Given the description of an element on the screen output the (x, y) to click on. 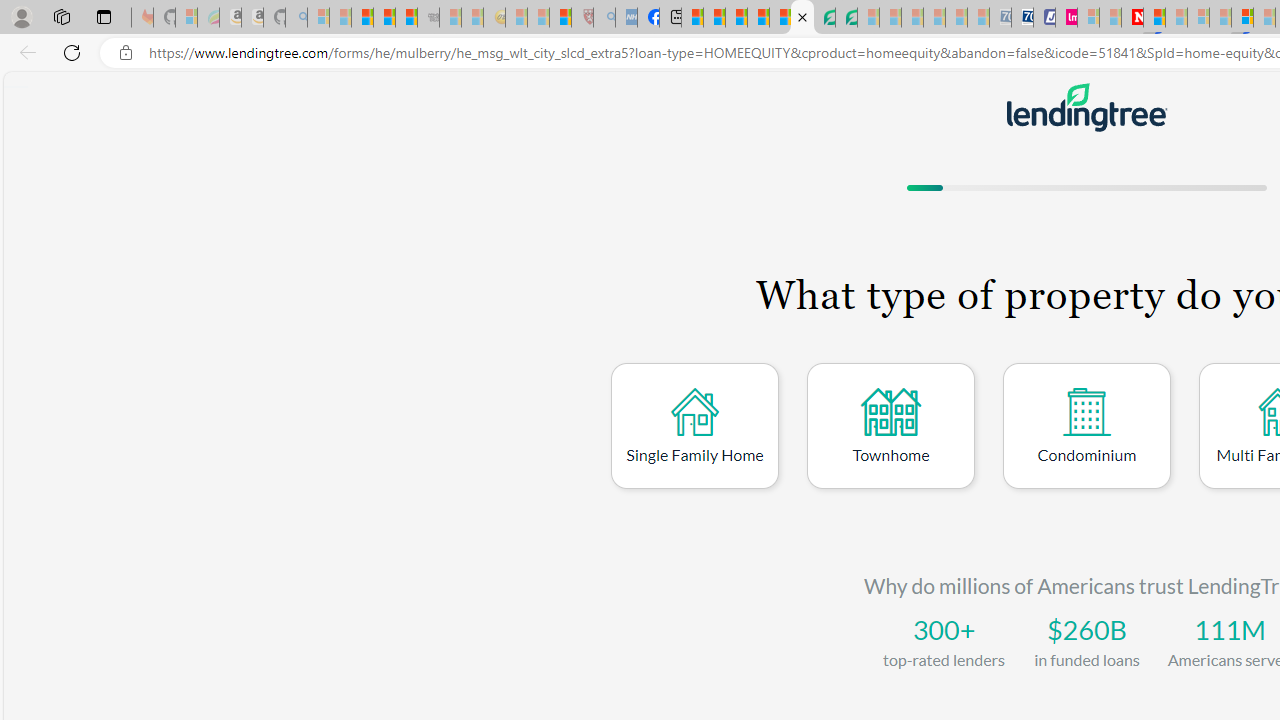
Terms of Use Agreement (824, 17)
Local - MSN (560, 17)
Latest Politics News & Archive | Newsweek.com (1132, 17)
Jobs - lastminute.com Investor Portal (1066, 17)
Pets - MSN (758, 17)
Cheap Hotels - Save70.com (1022, 17)
The Weather Channel - MSN (362, 17)
